Given the description of an element on the screen output the (x, y) to click on. 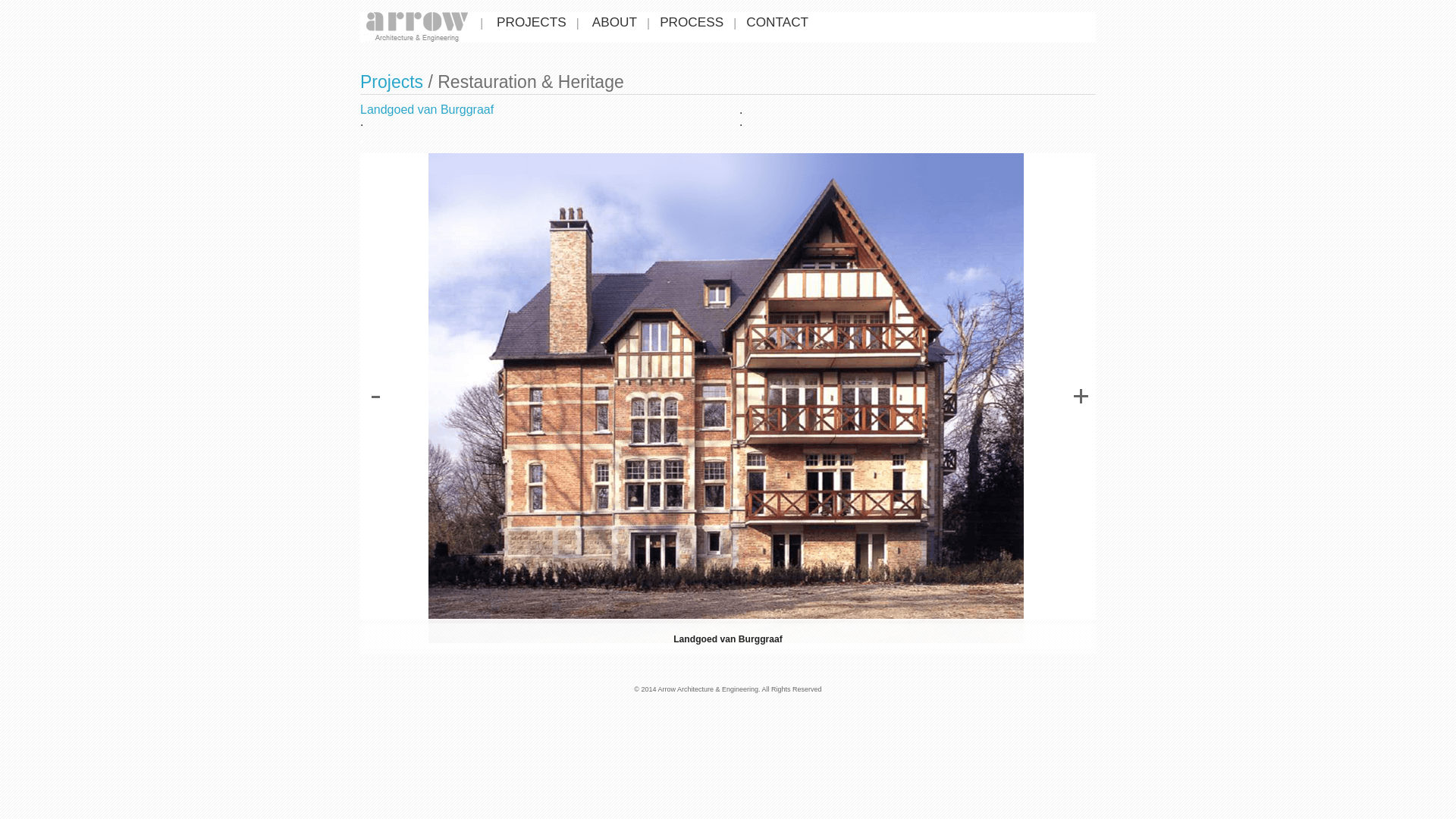
CONTACT Element type: text (777, 21)
PROCESS Element type: text (691, 21)
PROJECTS Element type: text (531, 21)
Landgoed van Burggraaf Element type: text (426, 109)
Projects Element type: text (391, 81)
ABOUT Element type: text (614, 21)
